Given the description of an element on the screen output the (x, y) to click on. 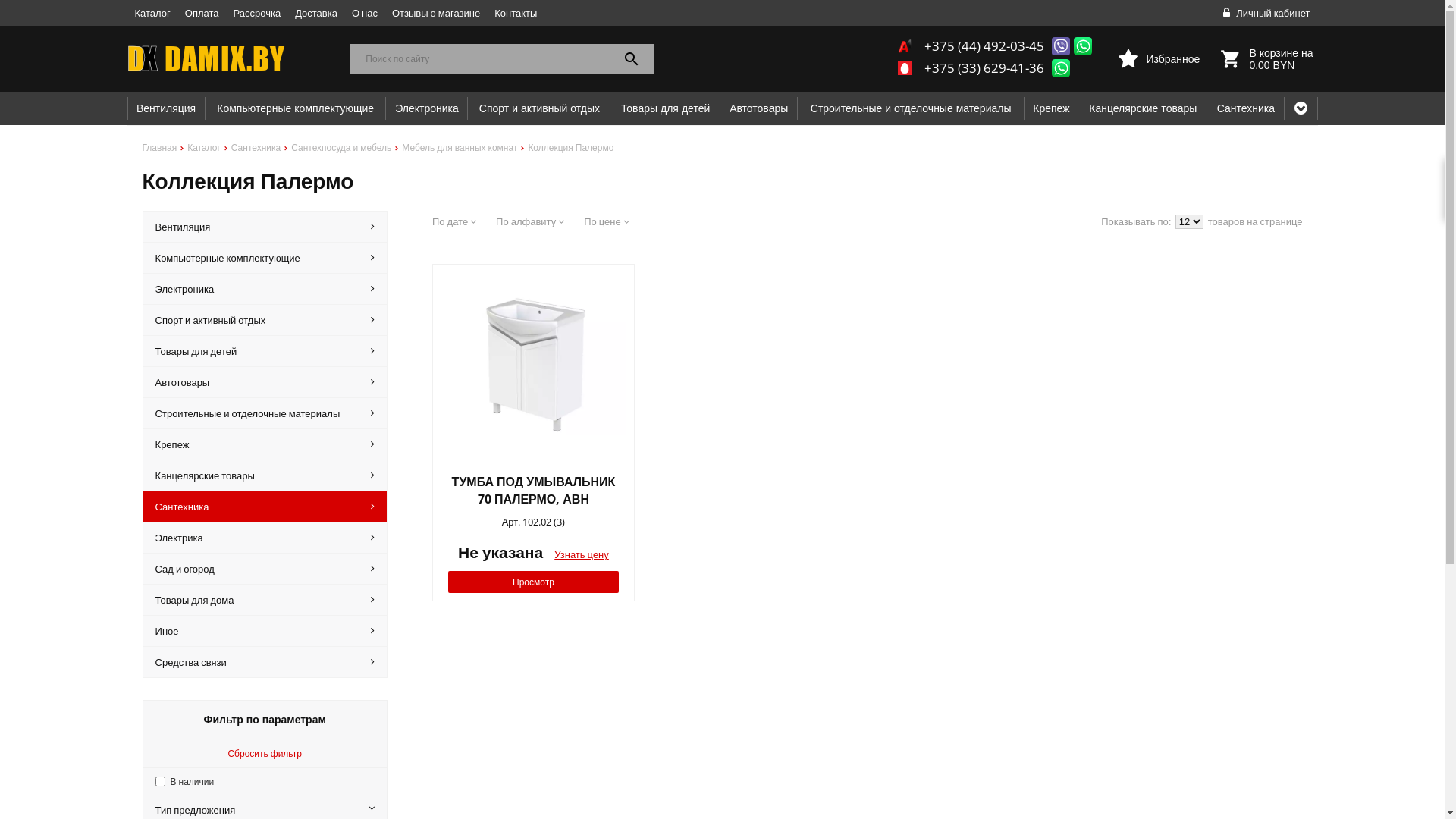
+375 (44) 492-03-45 Element type: text (984, 46)
+375 (33) 629-41-36 Element type: text (984, 68)
DX
DAMIX.BY Element type: text (231, 58)
search Element type: text (631, 58)
